Given the description of an element on the screen output the (x, y) to click on. 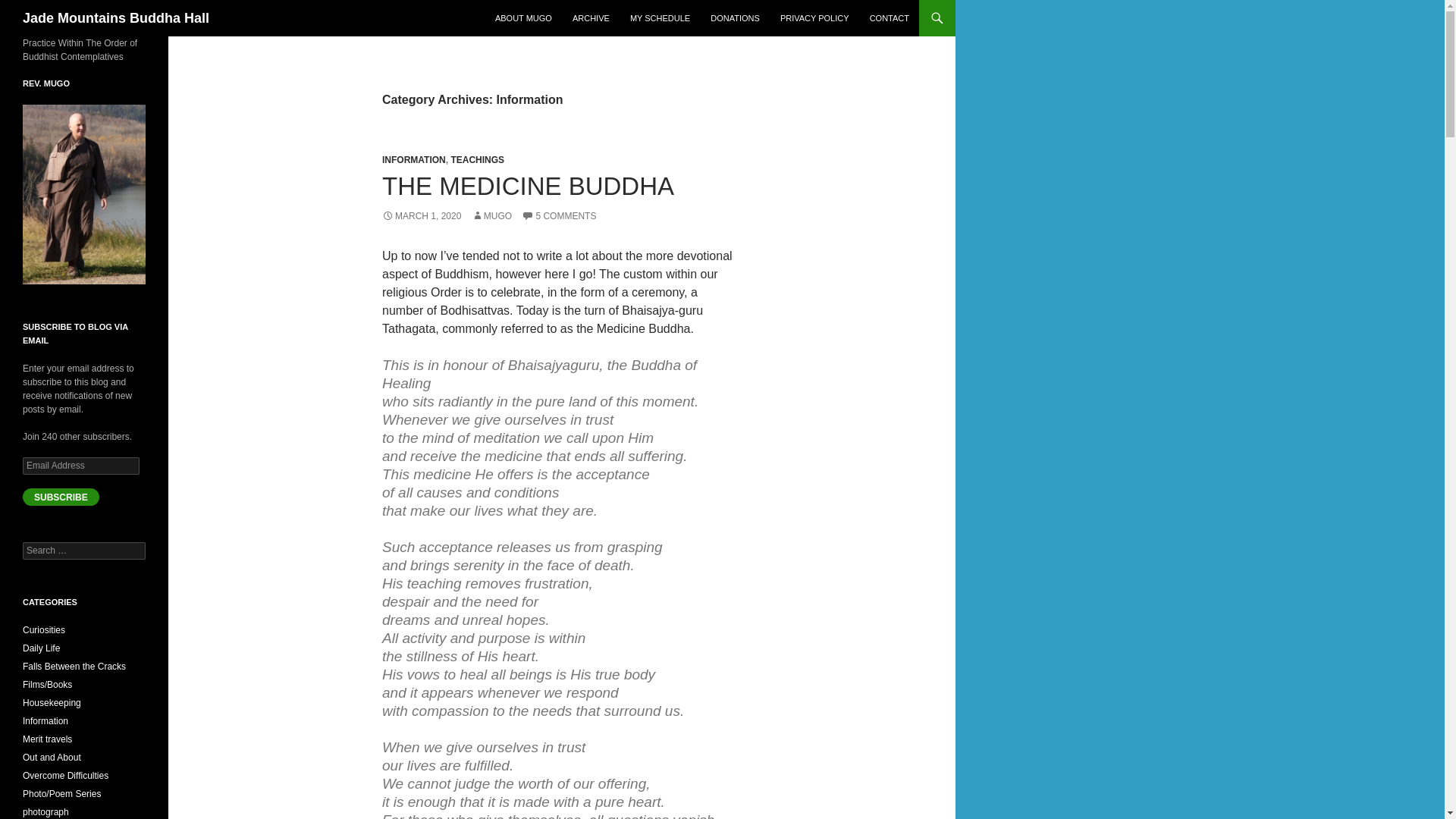
ABOUT MUGO (523, 18)
PRIVACY POLICY (815, 18)
INFORMATION (413, 159)
MUGO (491, 215)
Jade Mountains Buddha Hall (116, 18)
ARCHIVE (590, 18)
THE MEDICINE BUDDHA (527, 185)
TEACHINGS (476, 159)
MARCH 1, 2020 (421, 215)
DONATIONS (734, 18)
5 COMMENTS (558, 215)
MY SCHEDULE (659, 18)
CONTACT (889, 18)
